Given the description of an element on the screen output the (x, y) to click on. 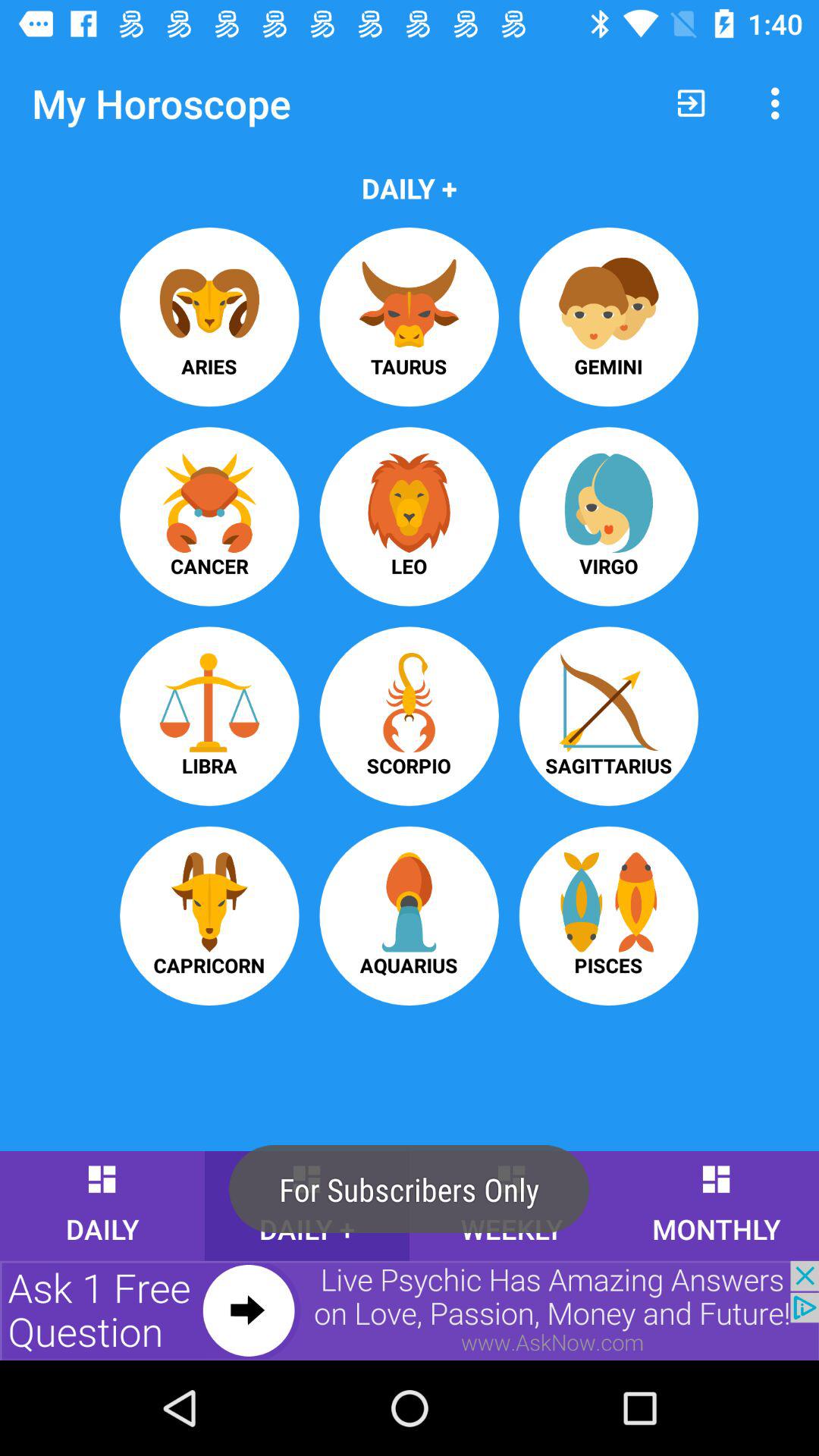
advertisement (409, 1310)
